Given the description of an element on the screen output the (x, y) to click on. 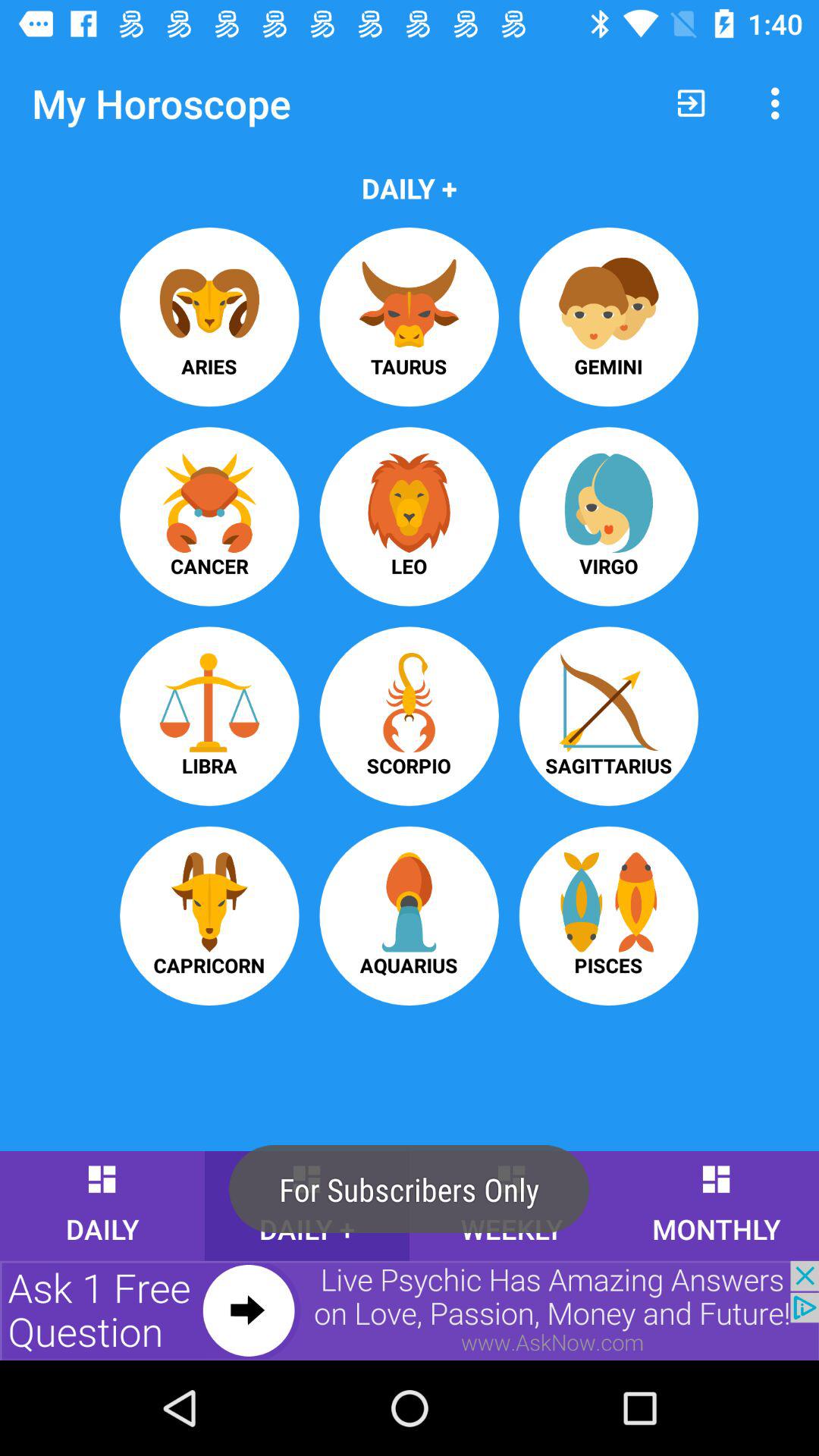
advertisement (409, 1310)
